Given the description of an element on the screen output the (x, y) to click on. 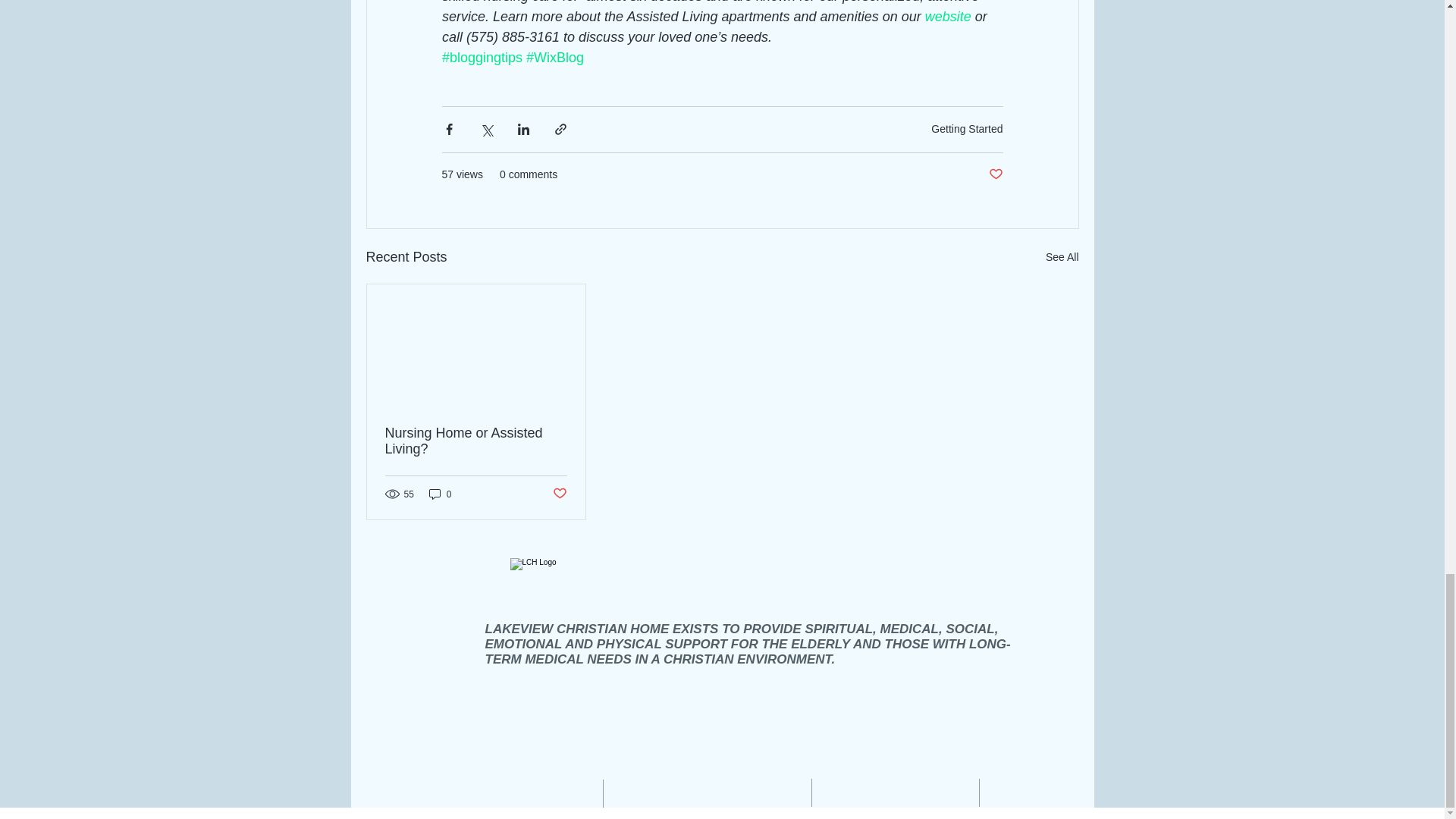
Facebook Like (970, 697)
See All (1061, 256)
Getting Started (967, 128)
Post not marked as liked (995, 174)
website (947, 16)
